Given the description of an element on the screen output the (x, y) to click on. 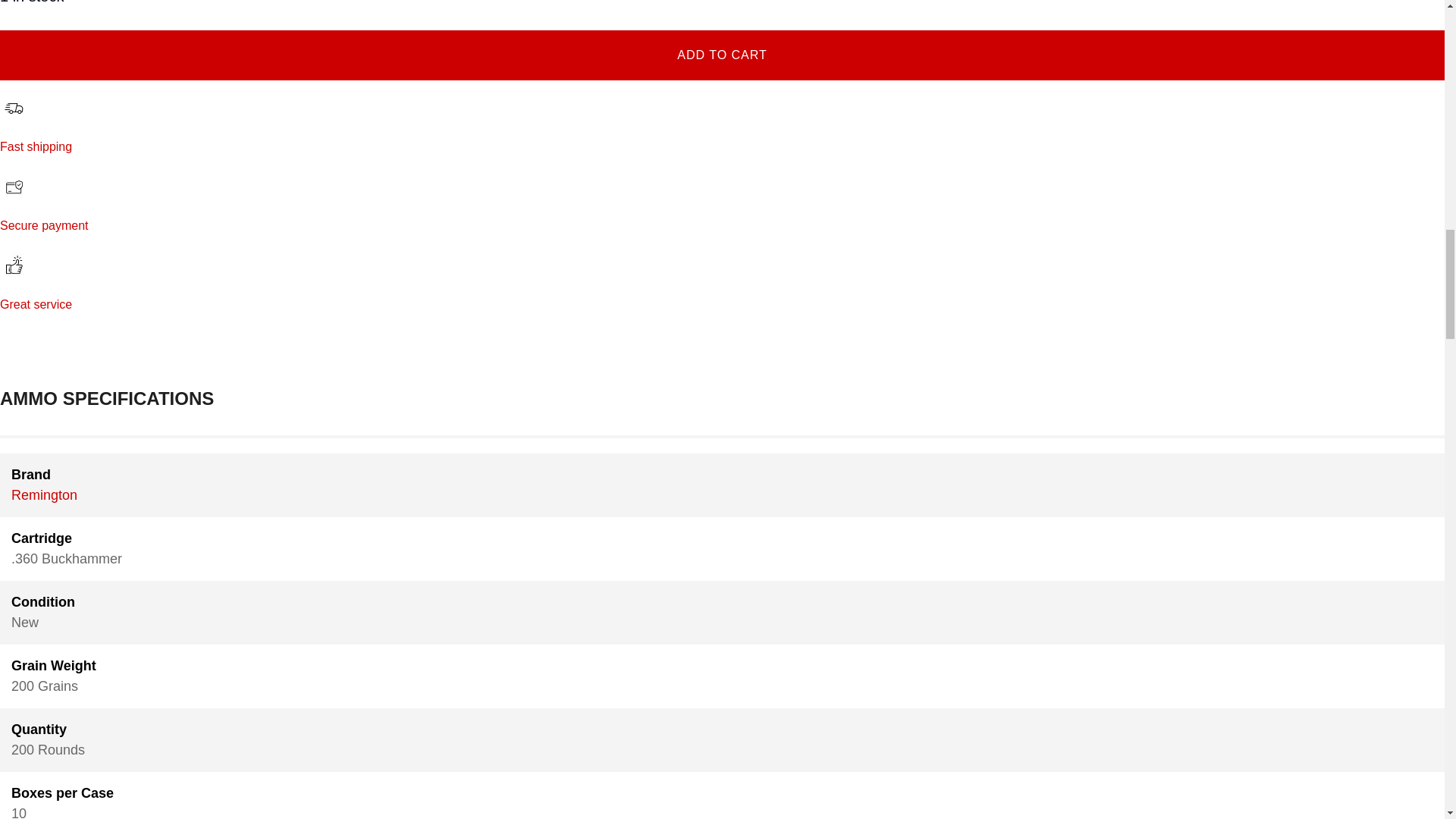
Remington (44, 494)
